Given the description of an element on the screen output the (x, y) to click on. 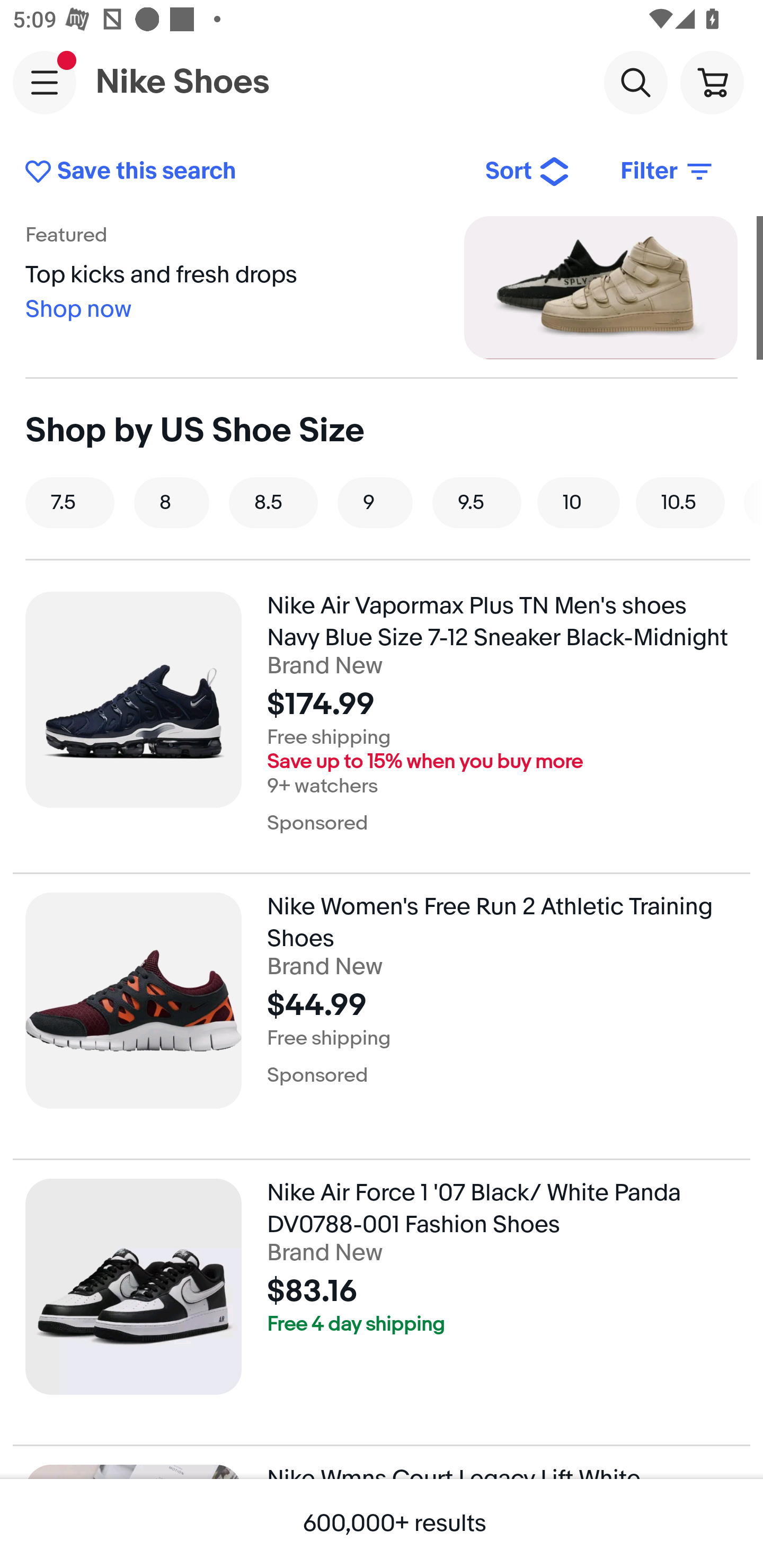
Main navigation, notification is pending, open (44, 82)
Search (635, 81)
Cart button shopping cart (711, 81)
Save this search (241, 171)
Sort (527, 171)
Filter (667, 171)
Featured Top kicks and fresh drops Shop now (381, 287)
7.5 7.5, US Shoe Size (69, 502)
8 8, US Shoe Size (171, 502)
8.5 8.5, US Shoe Size (273, 502)
9 9, US Shoe Size (374, 502)
9.5 9.5, US Shoe Size (476, 502)
10 10, US Shoe Size (578, 502)
10.5 10.5, US Shoe Size (679, 502)
